Given the description of an element on the screen output the (x, y) to click on. 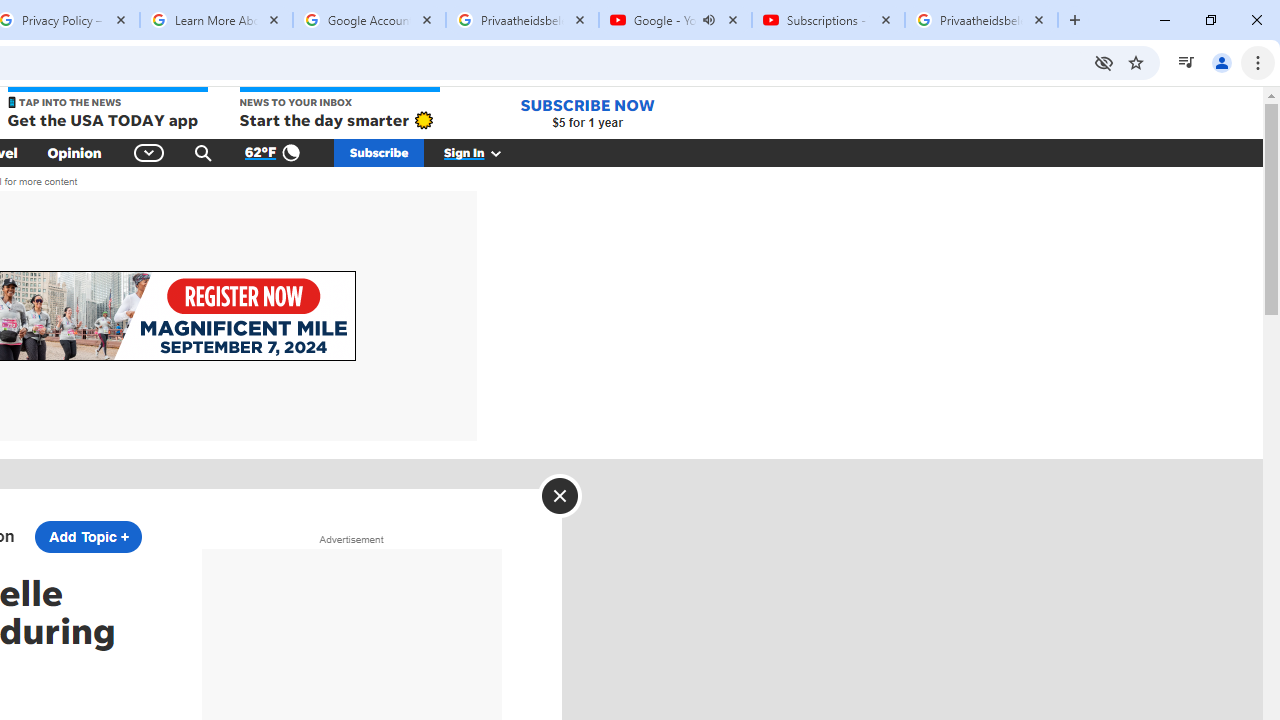
Opinion (74, 152)
Google - YouTube - Audio playing (675, 20)
SUBSCRIBE NOW $5 for 1 year (587, 112)
